Given the description of an element on the screen output the (x, y) to click on. 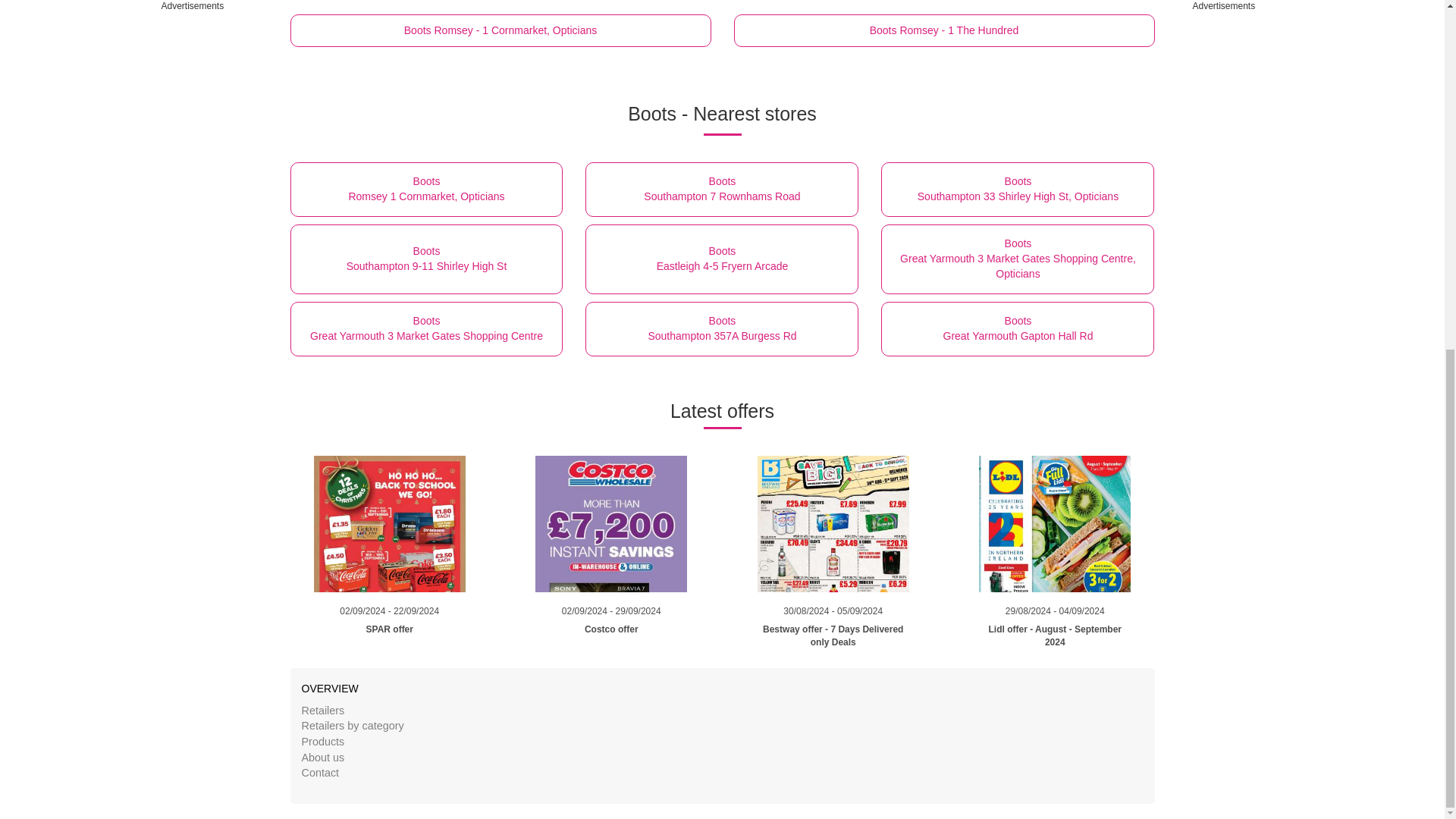
SPAR offer (1017, 329)
Retailers (389, 614)
Costco offer (323, 710)
Bestway offer - 7 Days Delivered only Deals (611, 530)
SPAR offer (832, 530)
Costco offer (425, 189)
